Given the description of an element on the screen output the (x, y) to click on. 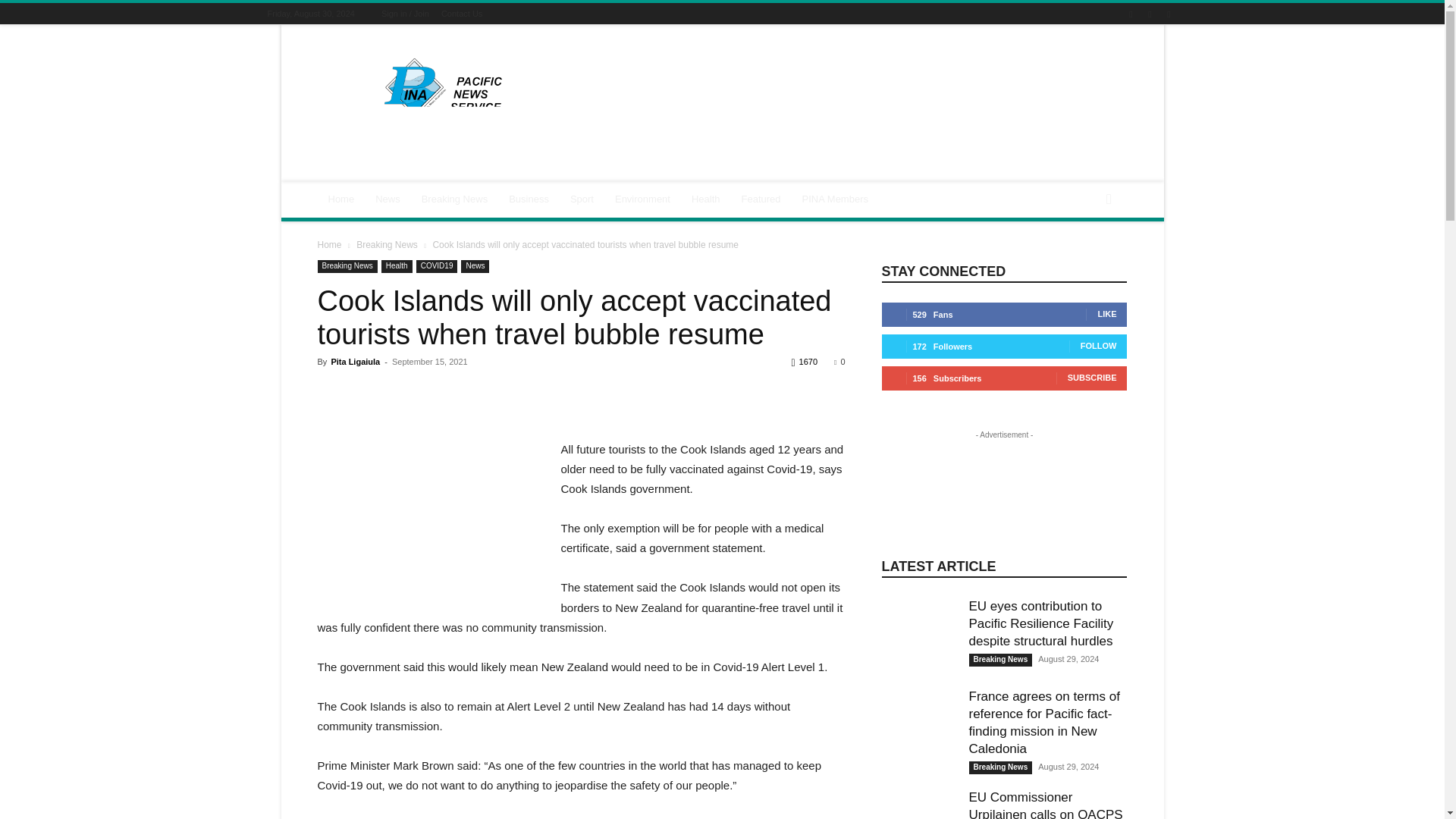
News (387, 198)
Pacific Islands News Association (445, 88)
Home (341, 198)
Contact Us (461, 13)
